Given the description of an element on the screen output the (x, y) to click on. 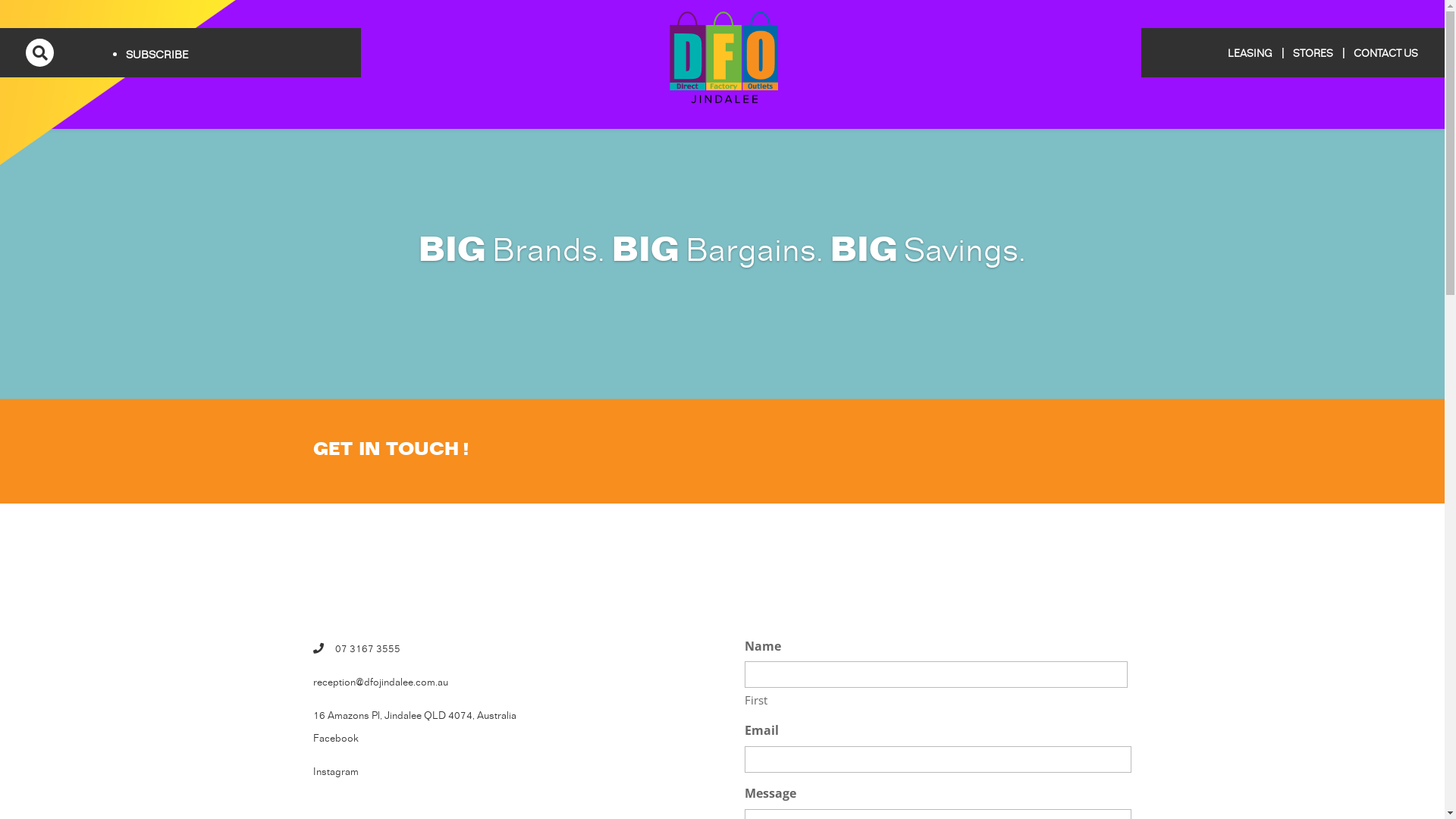
16 Amazons Pl, Jindalee QLD 4074, Australia Element type: text (413, 715)
reception@dfojindalee.com.au Element type: text (379, 682)
SUBSCRIBE Element type: text (156, 54)
Instagram Element type: text (334, 771)
LEASING Element type: text (1249, 53)
Facebook Element type: text (334, 738)
STORES Element type: text (1312, 53)
CONTACT US Element type: text (1385, 53)
07 3167 3555 Element type: text (367, 649)
